Given the description of an element on the screen output the (x, y) to click on. 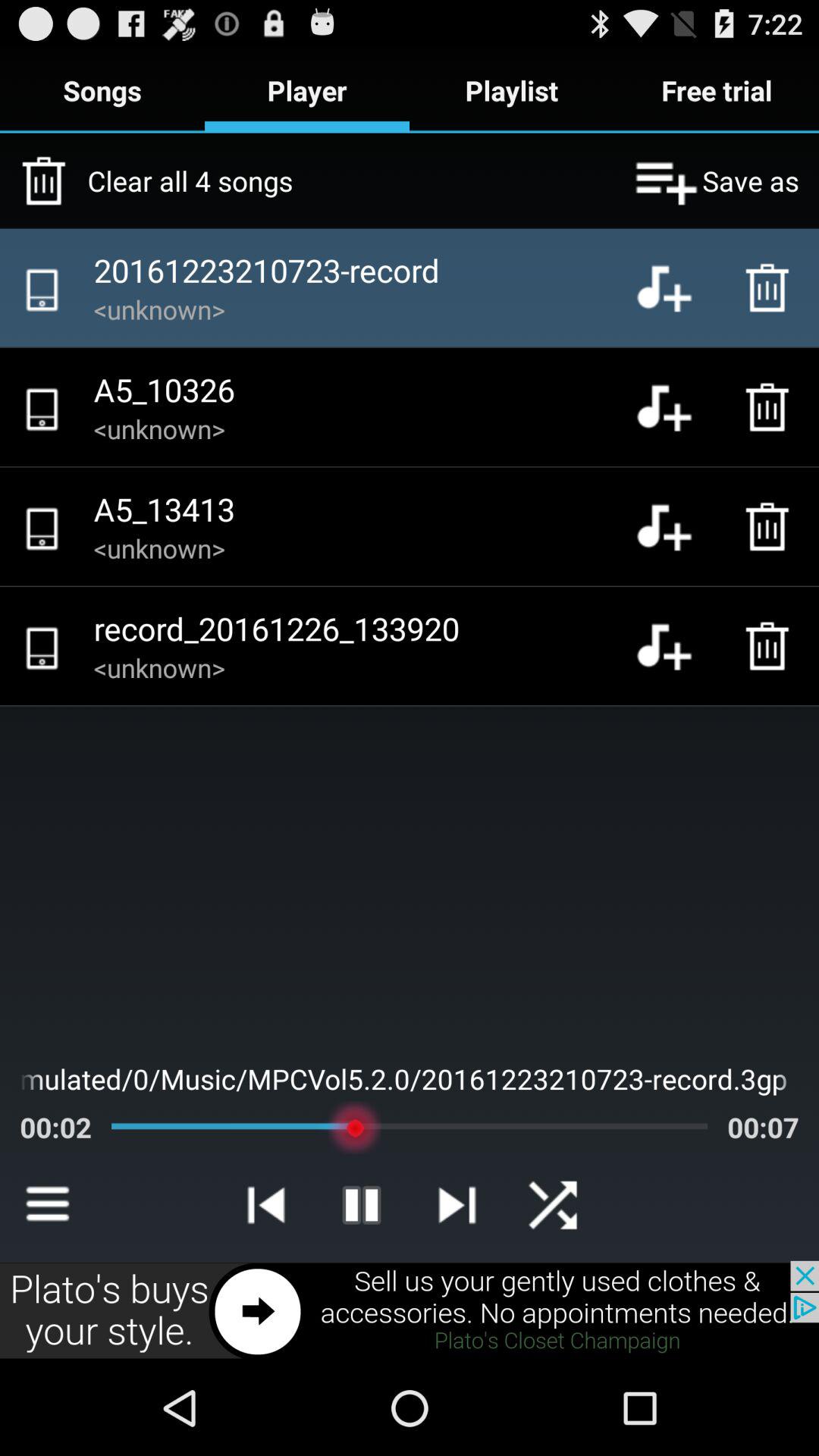
delete song (771, 287)
